Given the description of an element on the screen output the (x, y) to click on. 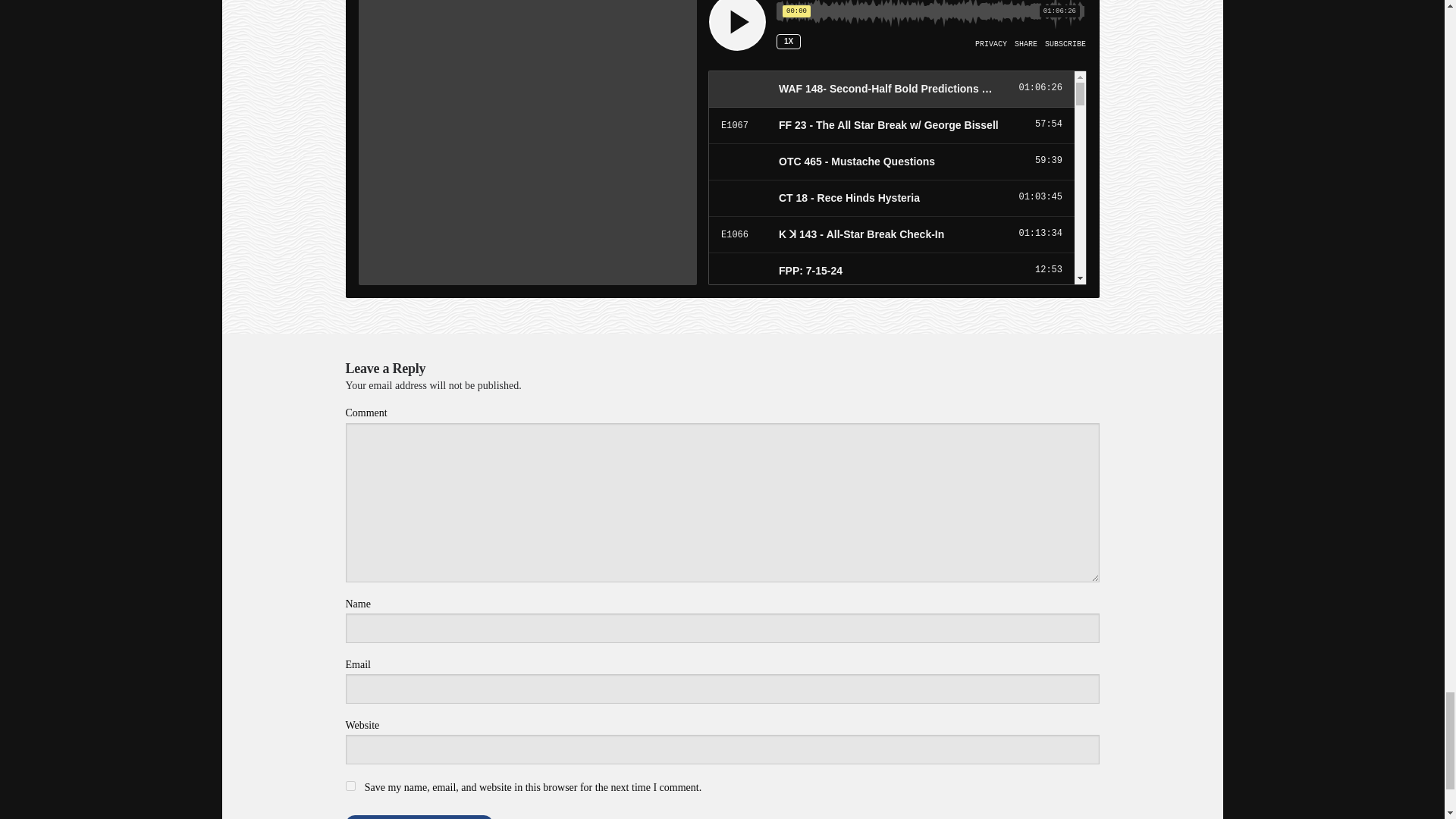
yes (350, 786)
Post Comment (419, 816)
